Given the description of an element on the screen output the (x, y) to click on. 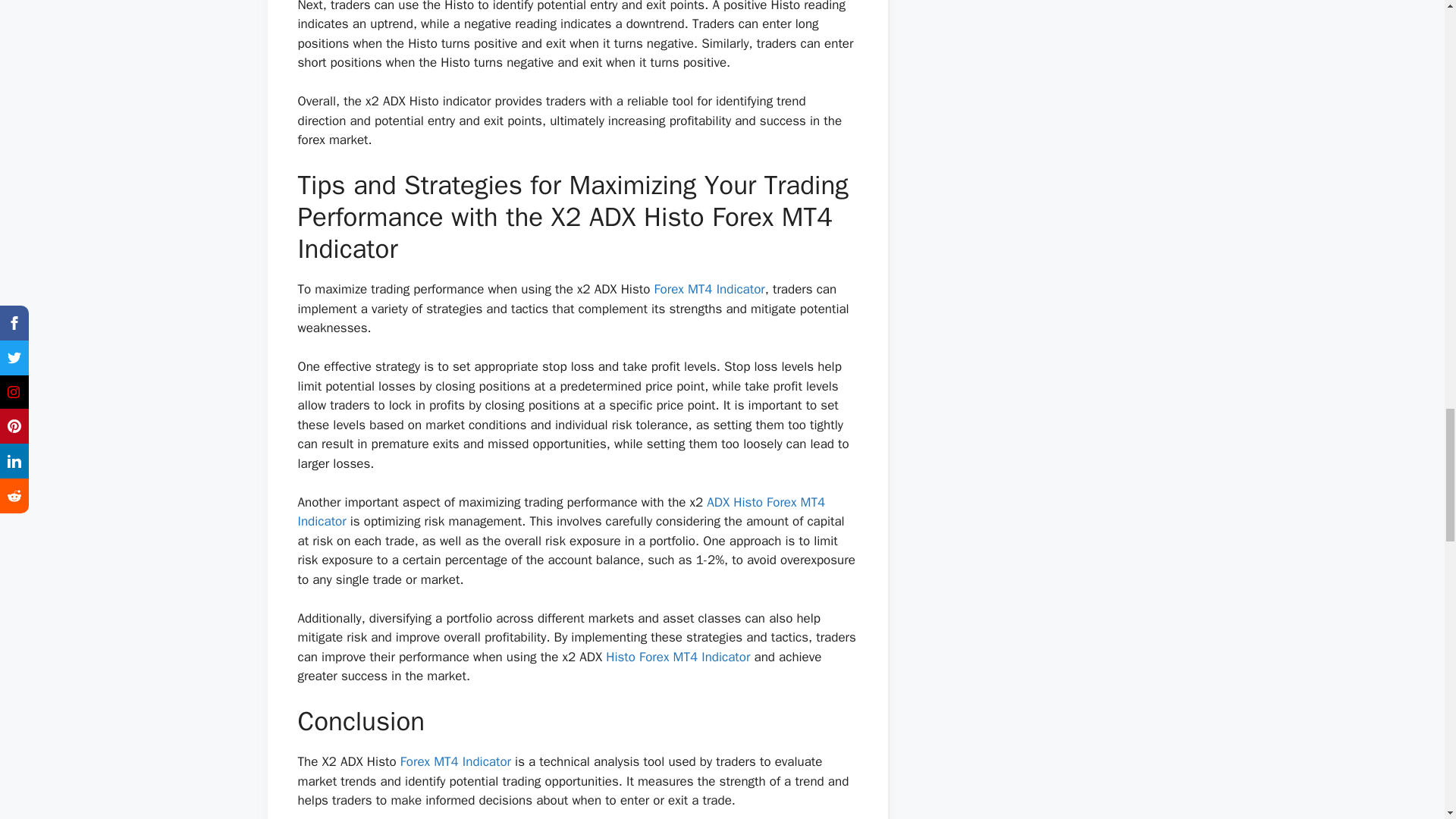
Histo Forex MT4 Indicator (677, 657)
Forex MT4 Indicator (708, 289)
ADX Histo Forex MT4 Indicator (561, 511)
